Given the description of an element on the screen output the (x, y) to click on. 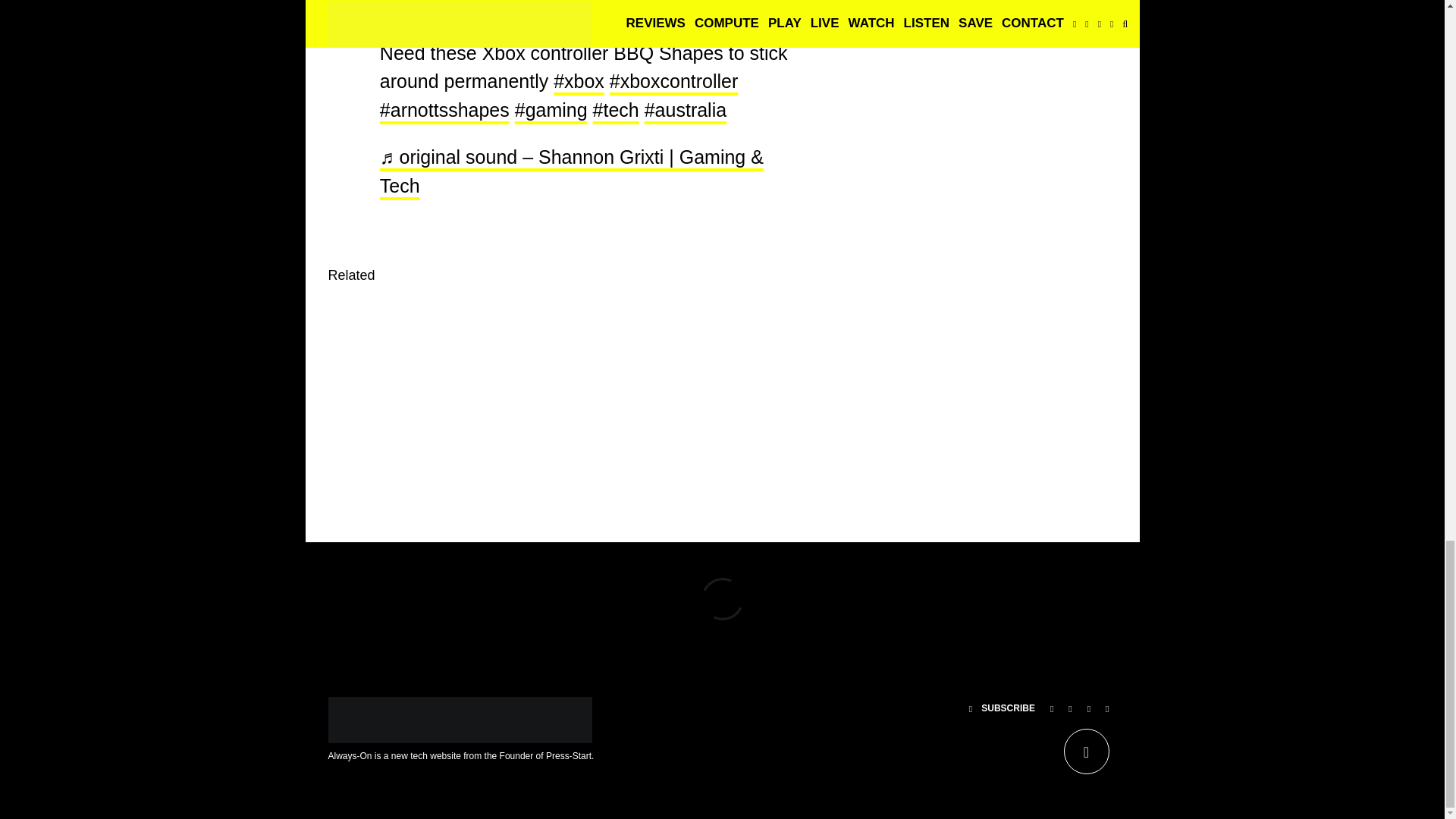
tech (615, 109)
xboxcontroller (674, 80)
gaming (551, 109)
australia (685, 109)
arnottsshapes (444, 109)
xbox (578, 80)
